Given the description of an element on the screen output the (x, y) to click on. 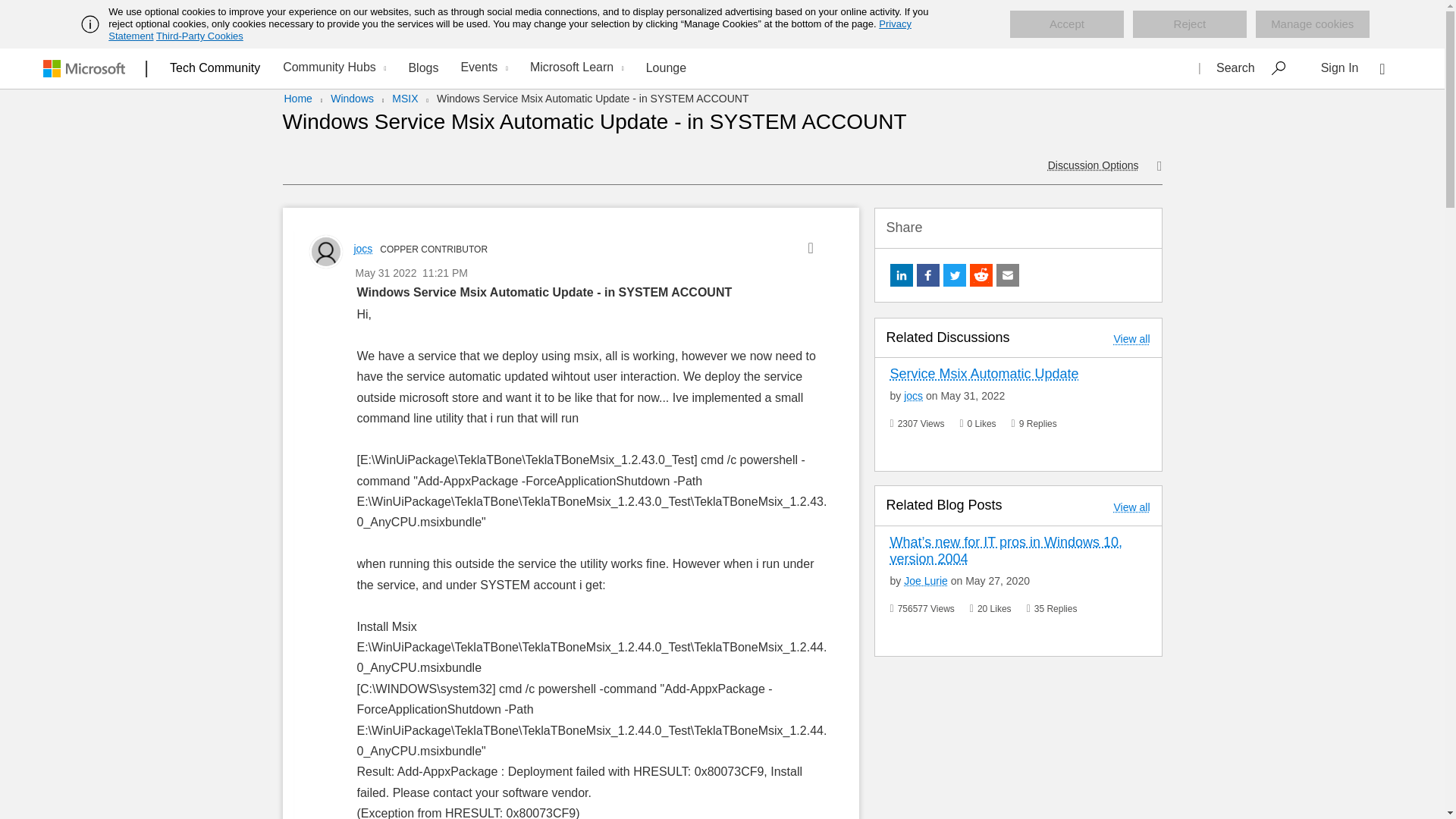
Community Hubs (332, 67)
Tech Community (215, 67)
Reject (1189, 23)
Third-Party Cookies (199, 35)
Accept (1067, 23)
Privacy Statement (509, 29)
Manage cookies (1312, 23)
